Given the description of an element on the screen output the (x, y) to click on. 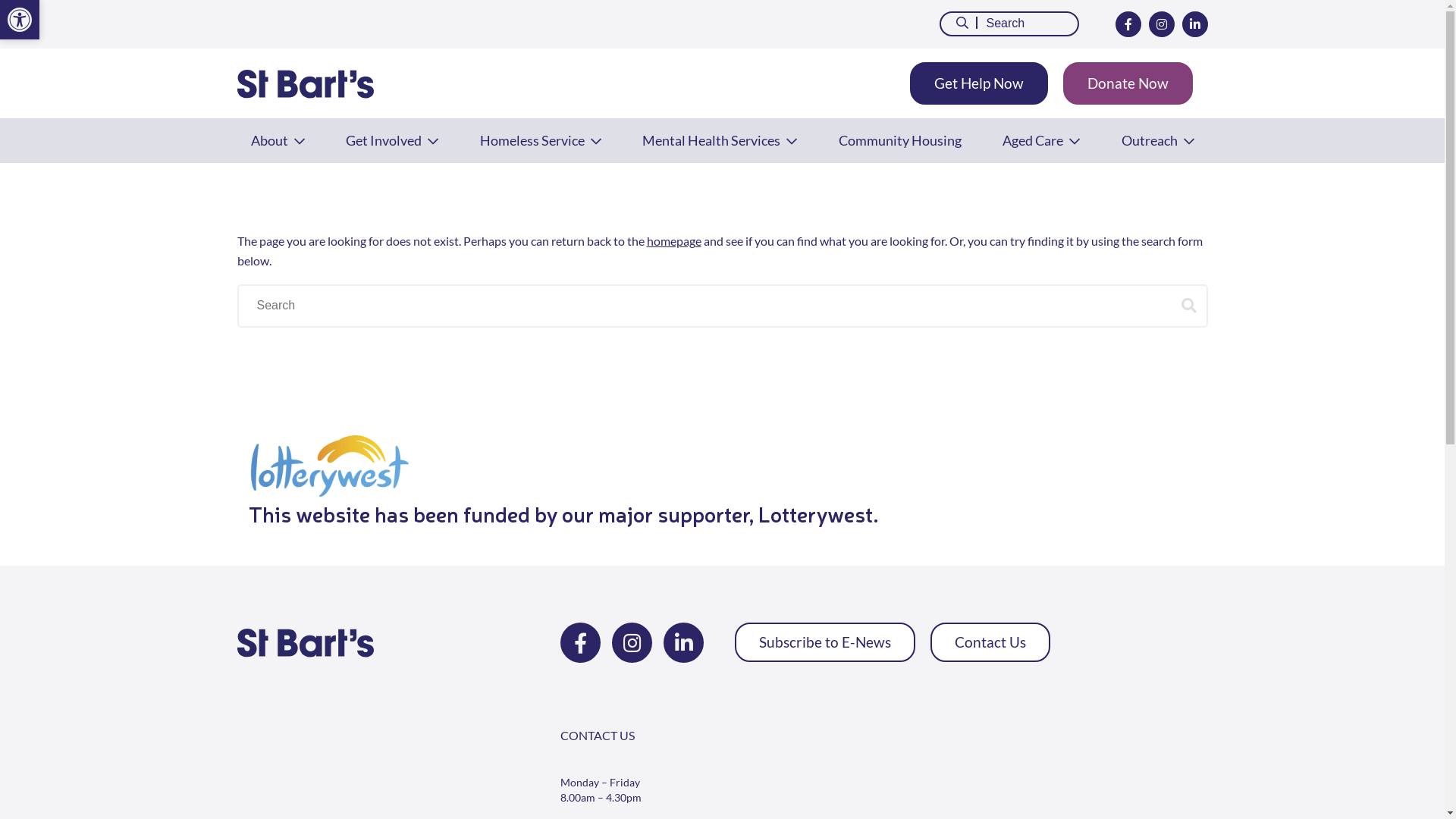
Donate Now Element type: text (1127, 83)
Open toolbar
Accessibility Tools Element type: text (19, 19)
Mental Health Services Element type: text (719, 140)
Community Housing Element type: text (900, 140)
Contact Us Element type: text (990, 641)
Subscribe to E-News Element type: text (824, 641)
Aged Care Element type: text (1040, 140)
About Element type: text (276, 140)
Get Involved Element type: text (391, 140)
homepage Element type: text (673, 240)
Submit website search Element type: text (1188, 305)
Homeless Service Element type: text (539, 140)
Get Help Now Element type: text (979, 83)
Outreach Element type: text (1157, 140)
Submit website search Element type: text (958, 22)
